Given the description of an element on the screen output the (x, y) to click on. 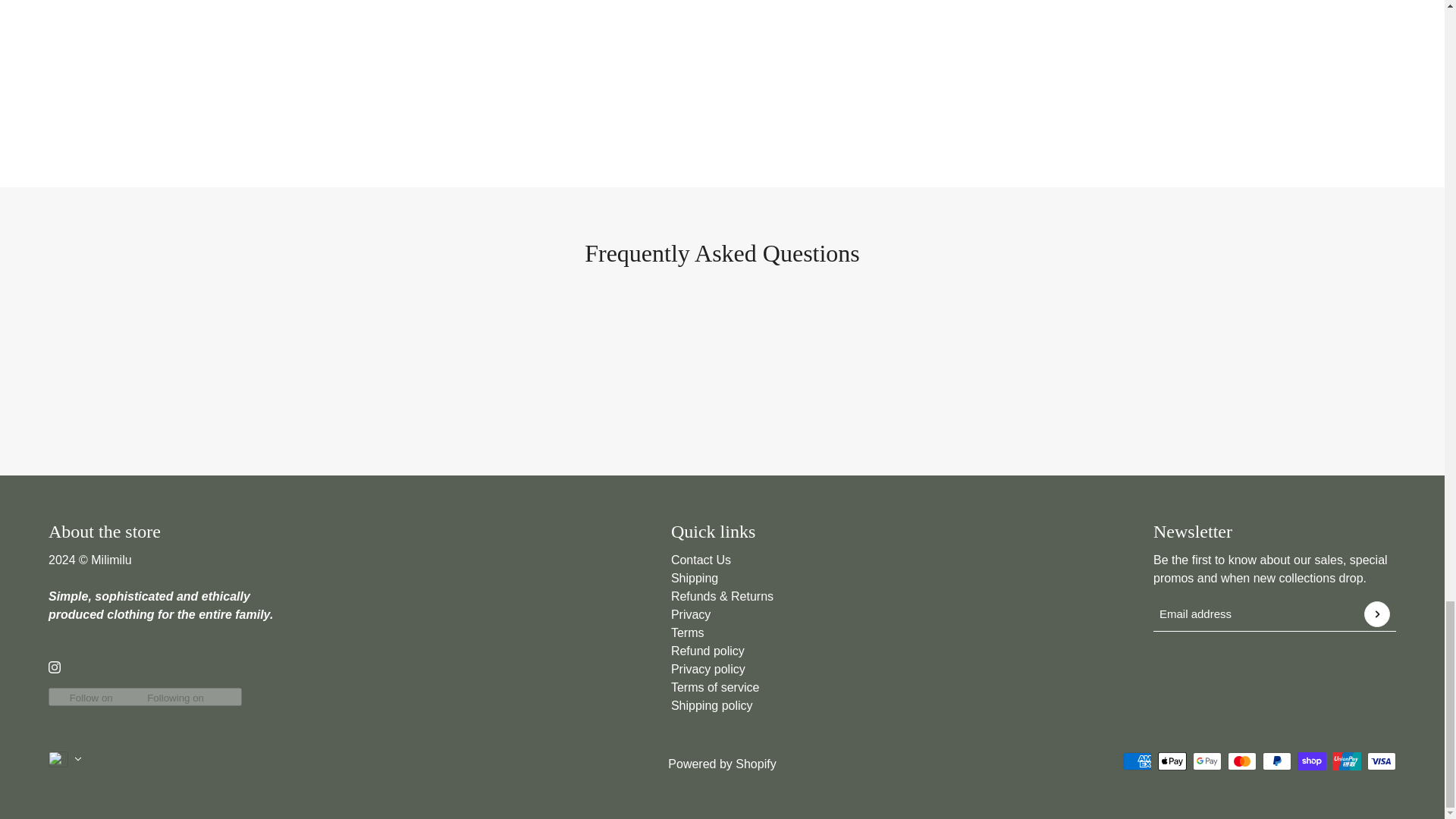
Terms of service (714, 686)
Shipping policy (711, 705)
Privacy policy (708, 668)
Contact Us (700, 559)
Terms (687, 632)
Refund policy (707, 650)
Shipping (694, 577)
Privacy (690, 614)
